Given the description of an element on the screen output the (x, y) to click on. 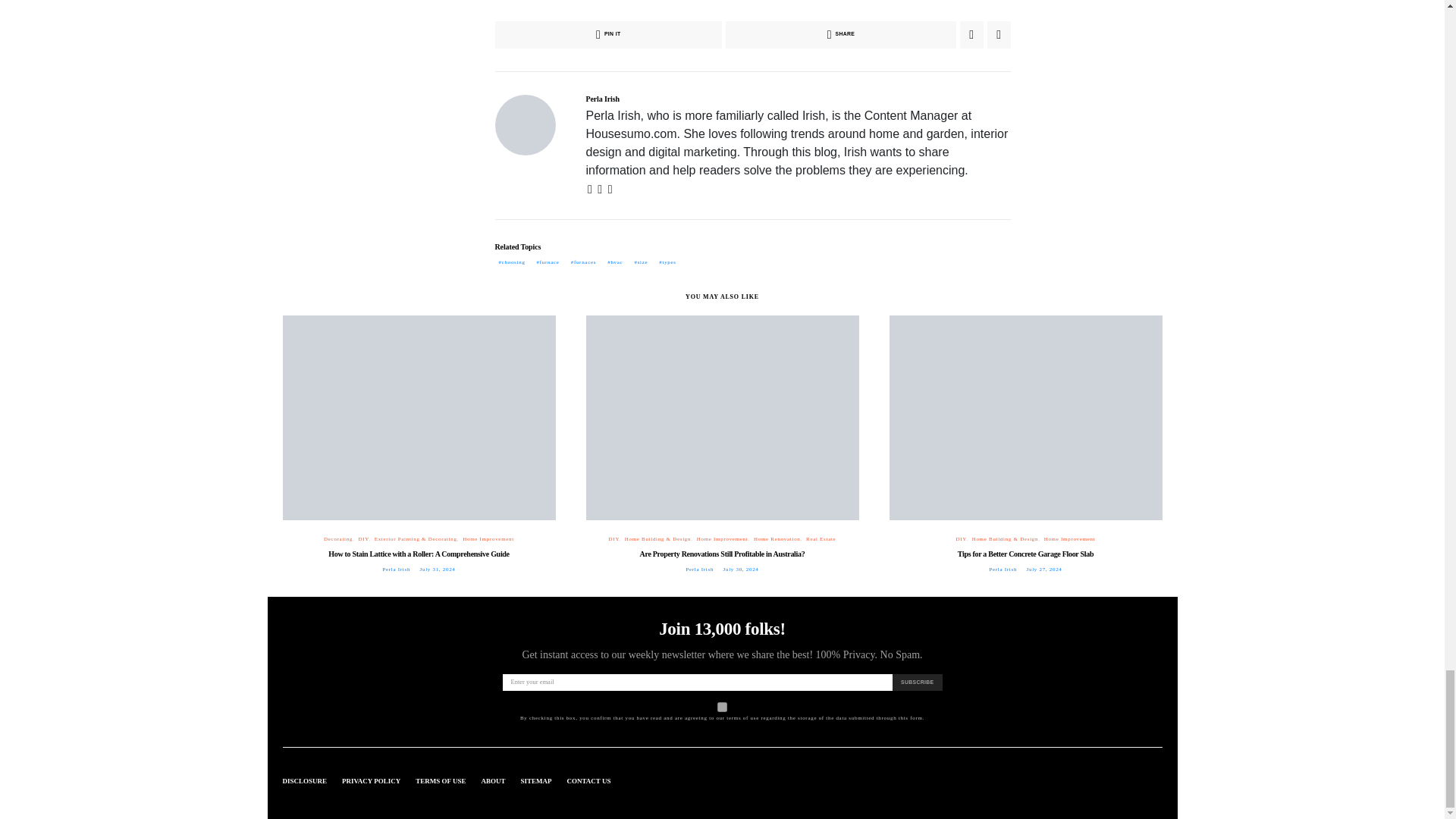
on (722, 706)
View all posts by Perla Irish (1002, 569)
View all posts by Perla Irish (395, 569)
View all posts by Perla Irish (699, 569)
